Given the description of an element on the screen output the (x, y) to click on. 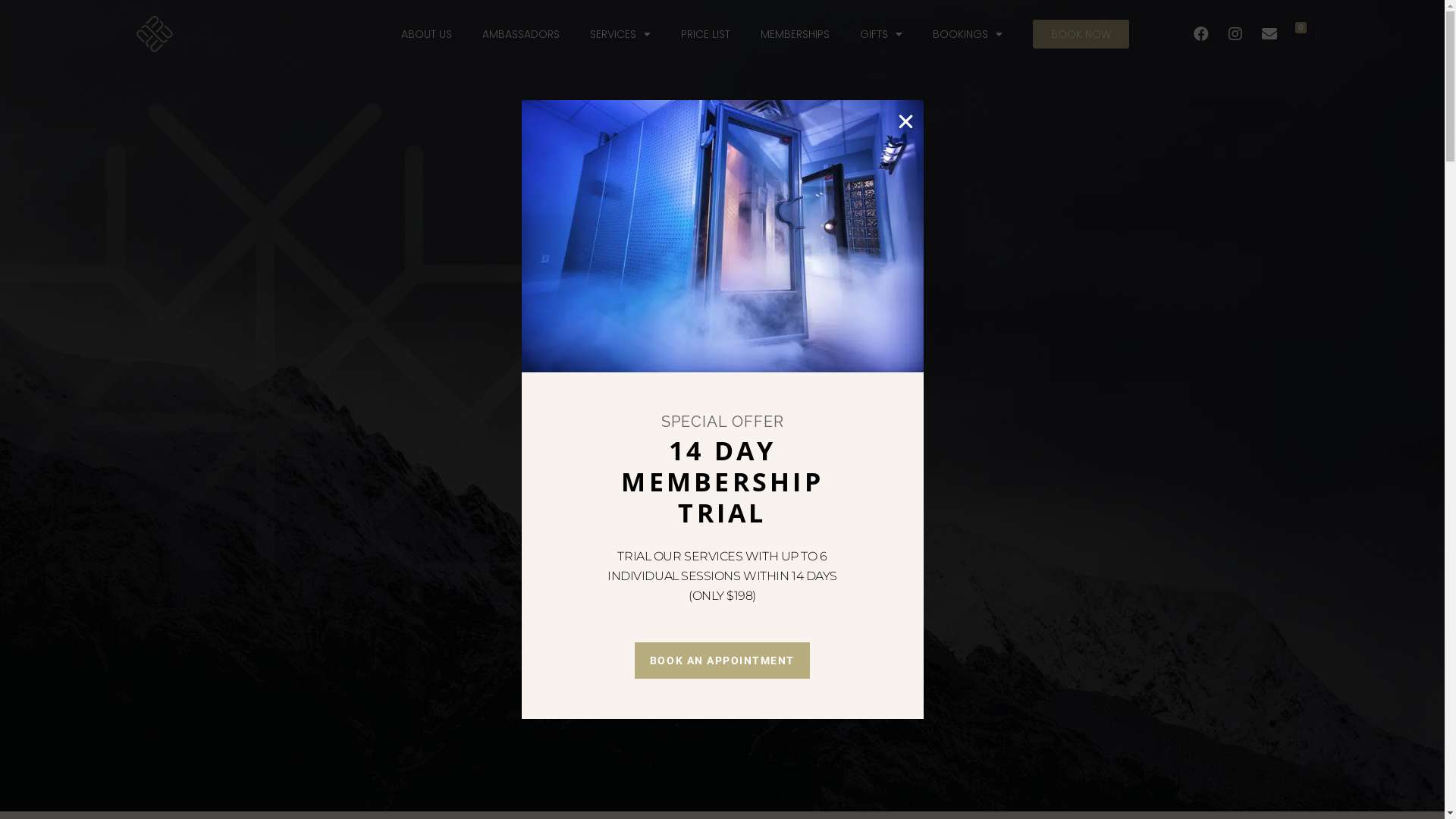
0 Element type: text (1317, 33)
ABOUT US Element type: text (426, 33)
SERVICES Element type: text (619, 33)
PRICE LIST Element type: text (705, 33)
AMBASSADORS Element type: text (520, 33)
GIFTS Element type: text (880, 33)
MEMBERSHIPS Element type: text (794, 33)
BOOKINGS Element type: text (967, 33)
BOOK NOW Element type: text (1080, 33)
BOOK AN APPOINTMENT Element type: text (721, 660)
